Given the description of an element on the screen output the (x, y) to click on. 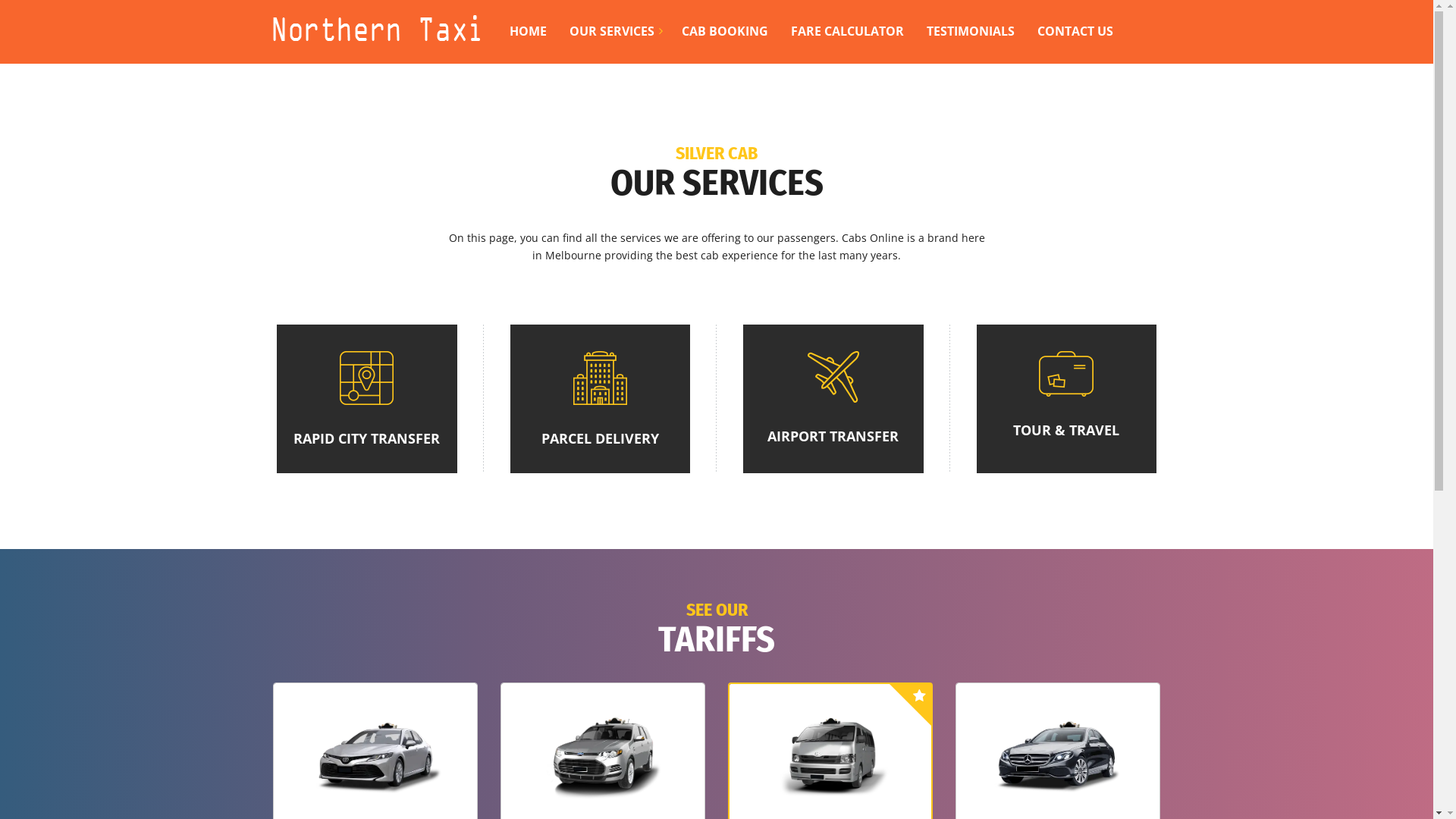
_services-1 Element type: hover (366, 377)
_services-4 Element type: hover (1065, 373)
HOME Element type: text (528, 23)
CONTACT US Element type: text (1075, 23)
CAB BOOKING Element type: text (724, 23)
OUR SERVICES Element type: text (611, 23)
TESTIMONIALS Element type: text (970, 23)
_services-2 Element type: hover (600, 377)
_services-3 Element type: hover (833, 376)
FARE CALCULATOR Element type: text (847, 23)
